Given the description of an element on the screen output the (x, y) to click on. 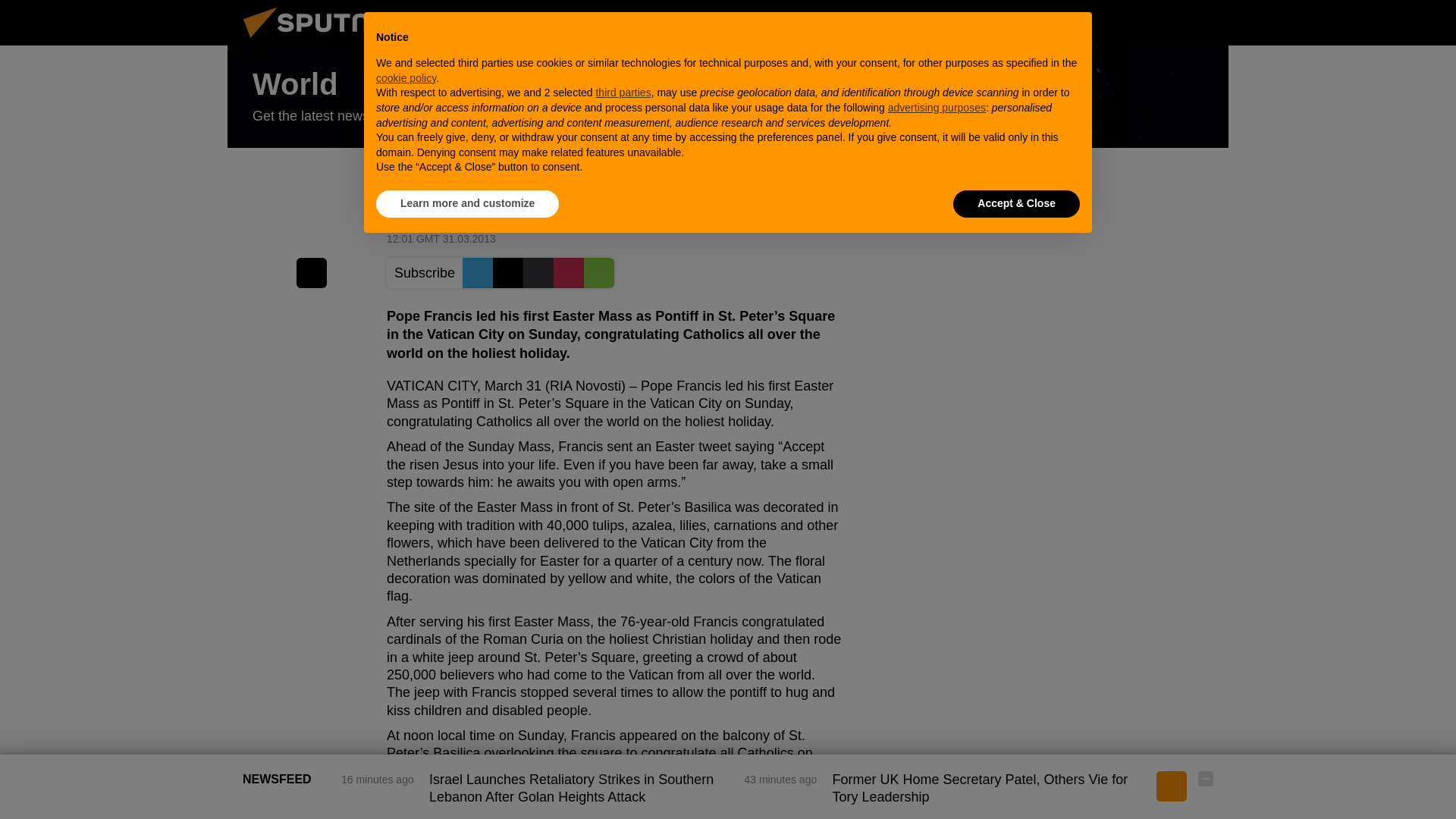
World (727, 96)
Authorization (1129, 22)
Chats (1206, 22)
Sputnik International (325, 41)
